Given the description of an element on the screen output the (x, y) to click on. 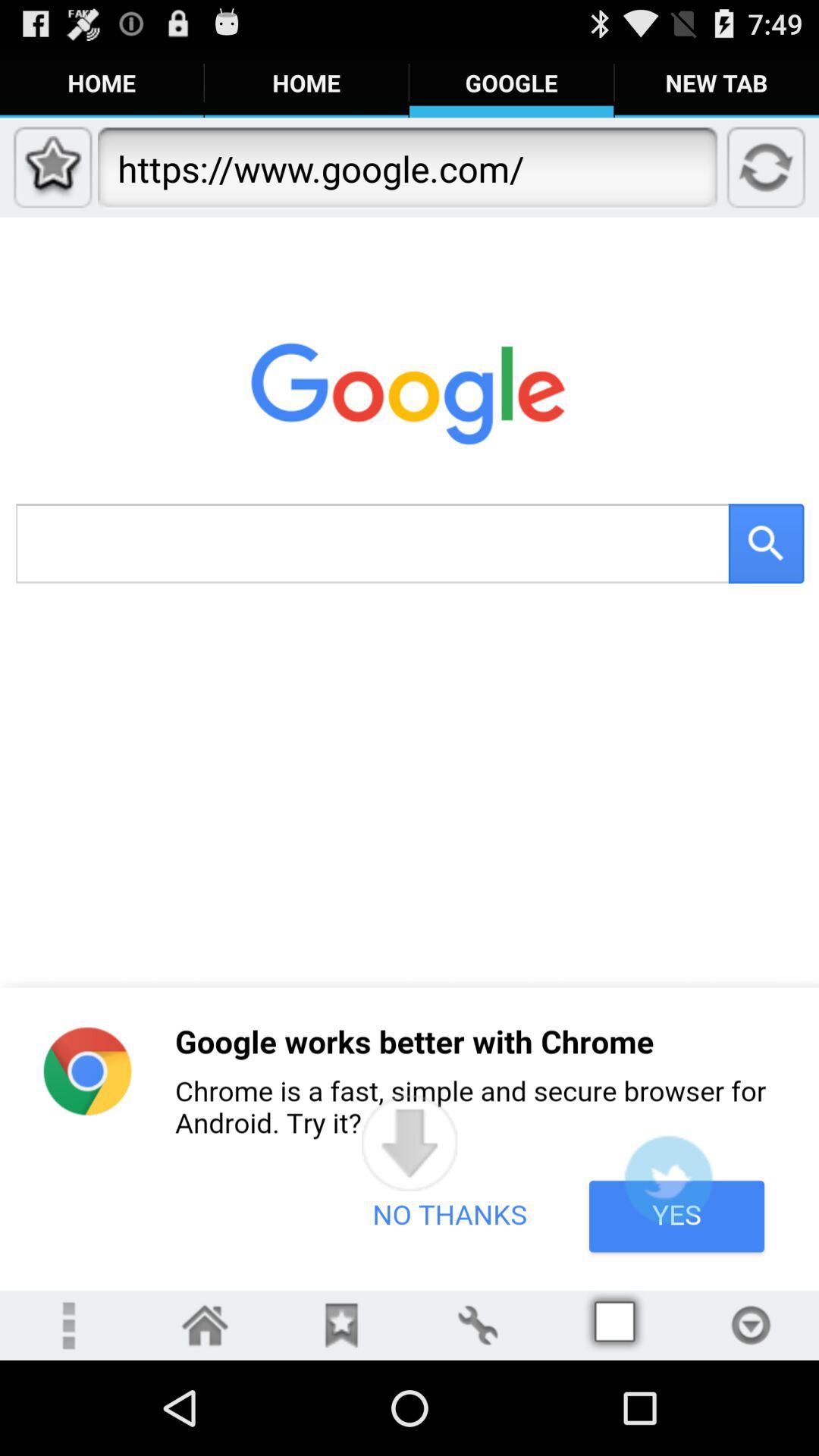
access page (614, 1325)
